Given the description of an element on the screen output the (x, y) to click on. 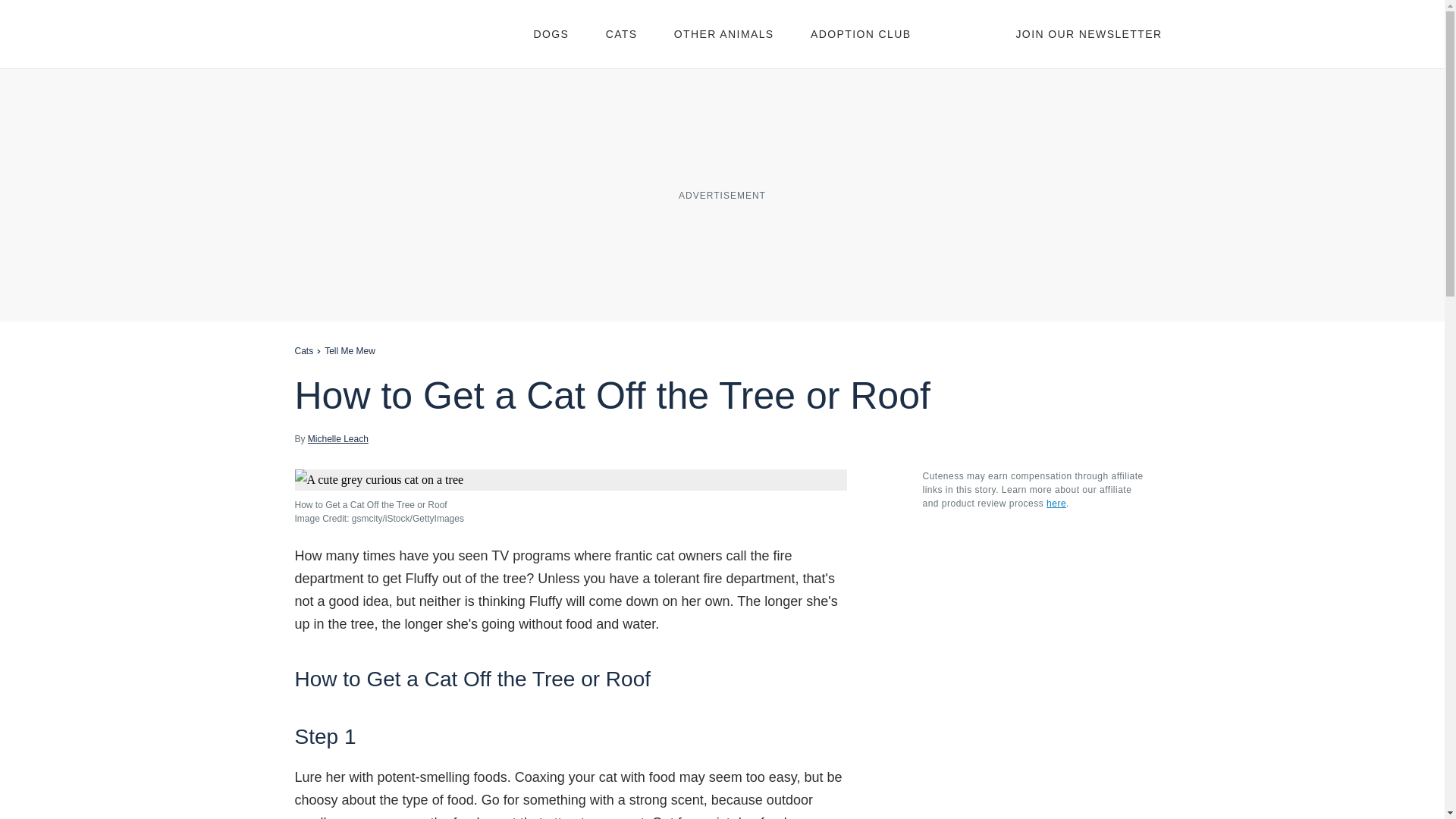
Learn more about our affiliate and product review process (1055, 502)
Cats (303, 350)
Tell Me Mew (349, 350)
ADOPTION CLUB (860, 33)
JOIN OUR NEWSLETTER (1087, 33)
Michelle Leach (337, 438)
